Given the description of an element on the screen output the (x, y) to click on. 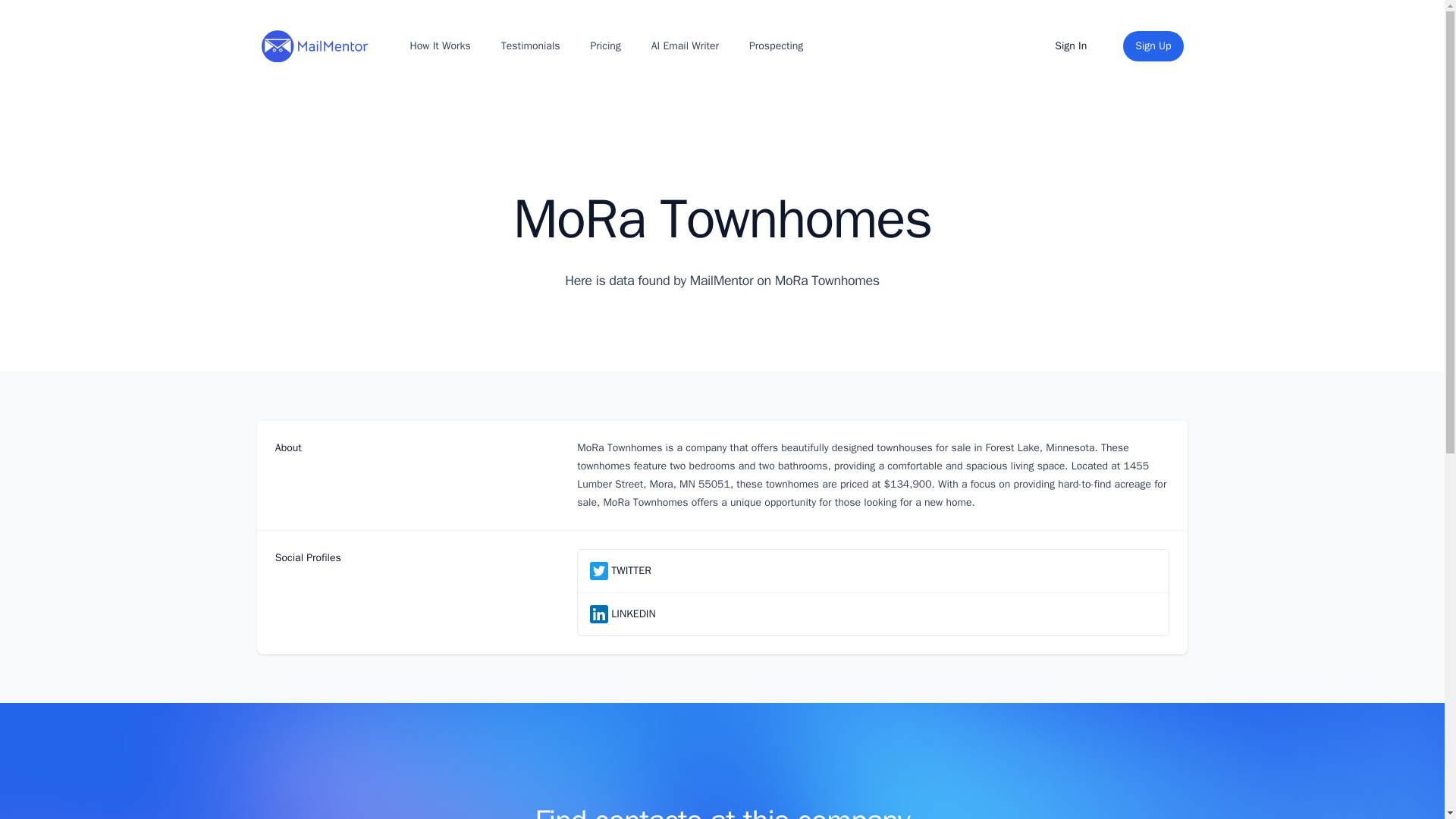
Sign Up (1152, 46)
Testimonials (530, 46)
AI Email Writer (685, 46)
LINKEDIN (633, 614)
Prospecting (775, 46)
linkedin (598, 614)
TWITTER (630, 570)
Pricing (606, 46)
Sign In (1070, 46)
How It Works (439, 46)
